Given the description of an element on the screen output the (x, y) to click on. 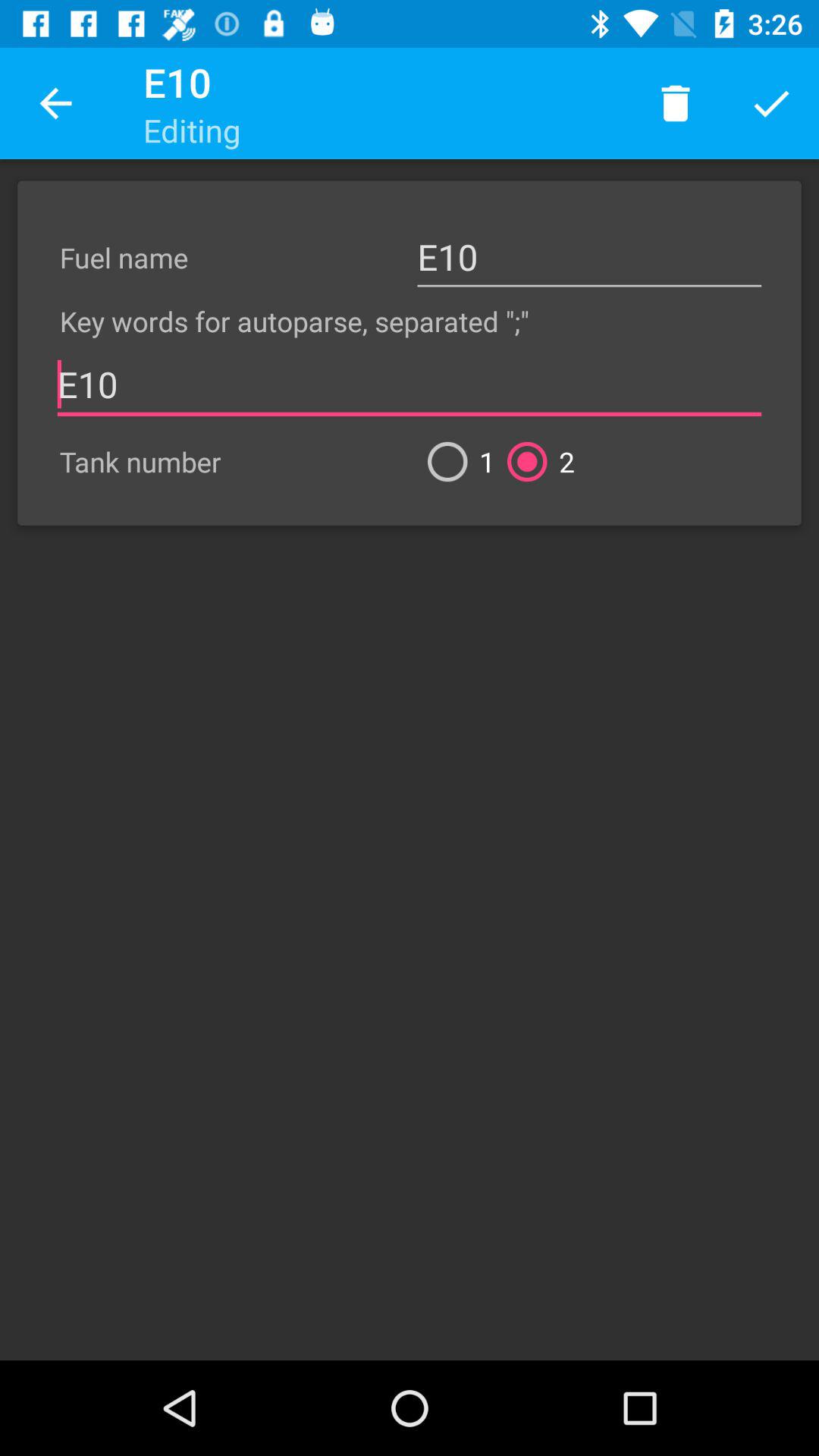
turn off the app to the left of the e10 icon (55, 103)
